Given the description of an element on the screen output the (x, y) to click on. 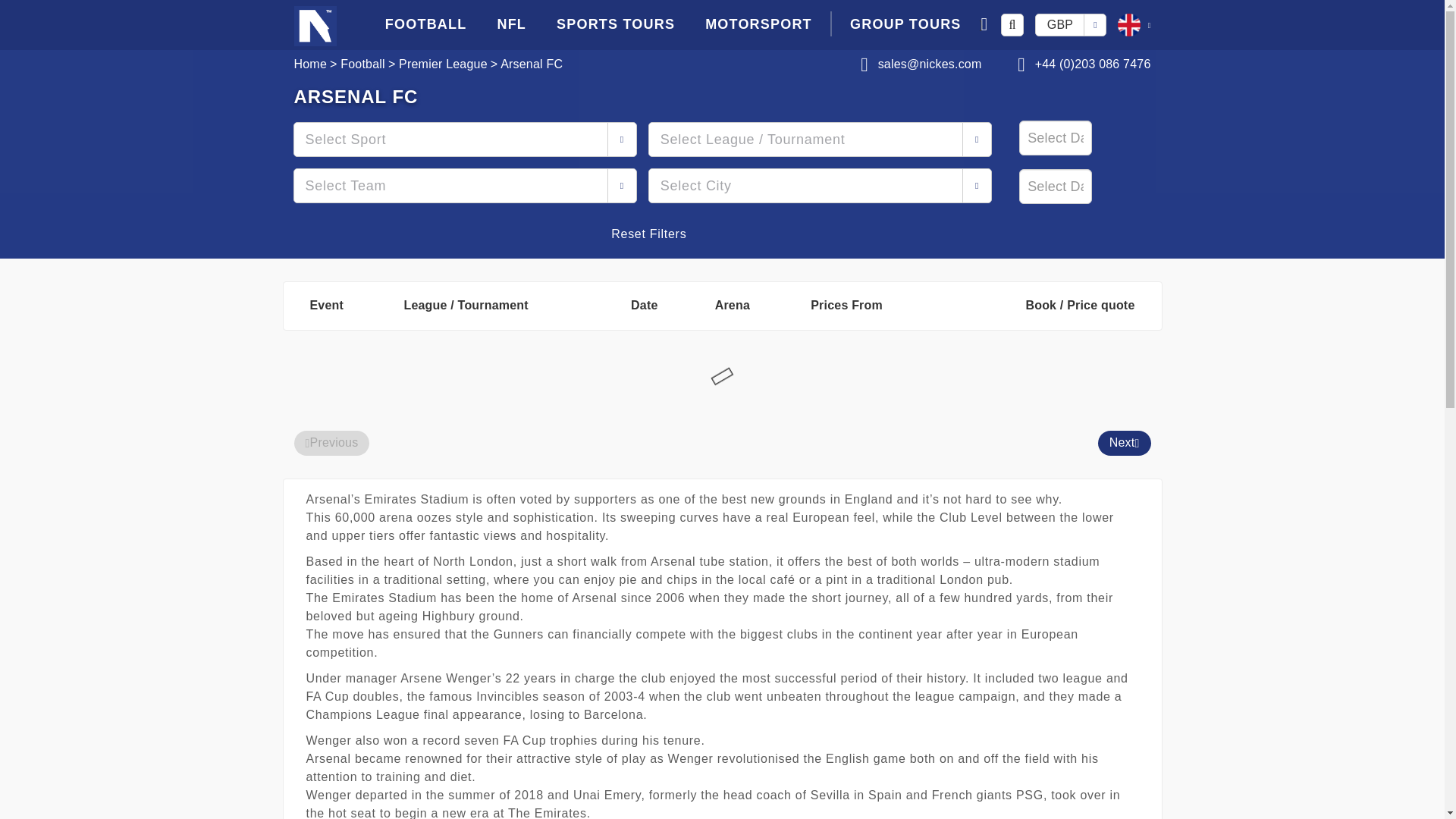
NFL (511, 24)
MOTORSPORT (758, 24)
FOOTBALL (425, 24)
SPORTS TOURS (615, 24)
